Given the description of an element on the screen output the (x, y) to click on. 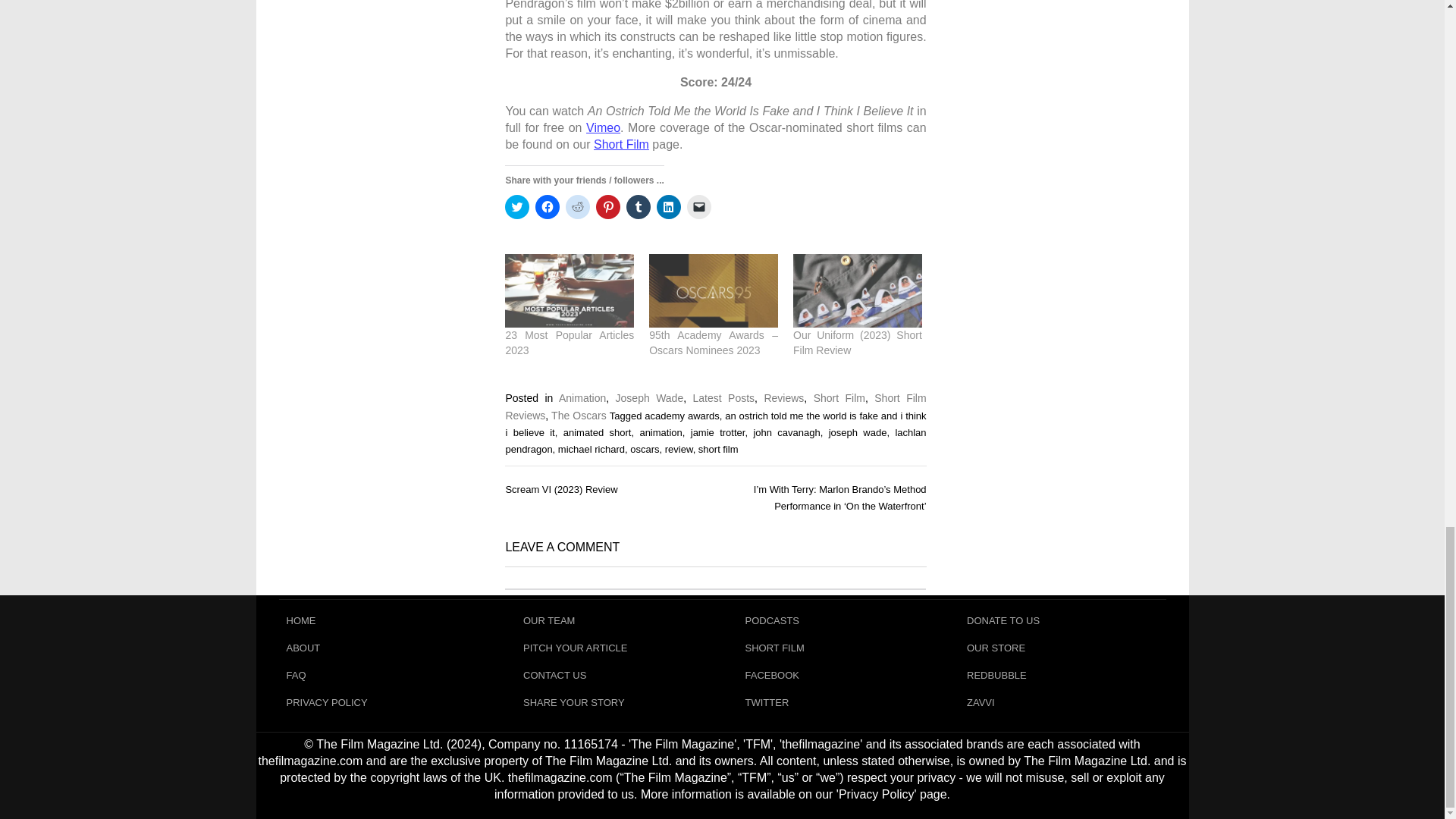
Click to share on Twitter (517, 206)
Click to share on Reddit (577, 206)
Click to share on Facebook (547, 206)
